Given the description of an element on the screen output the (x, y) to click on. 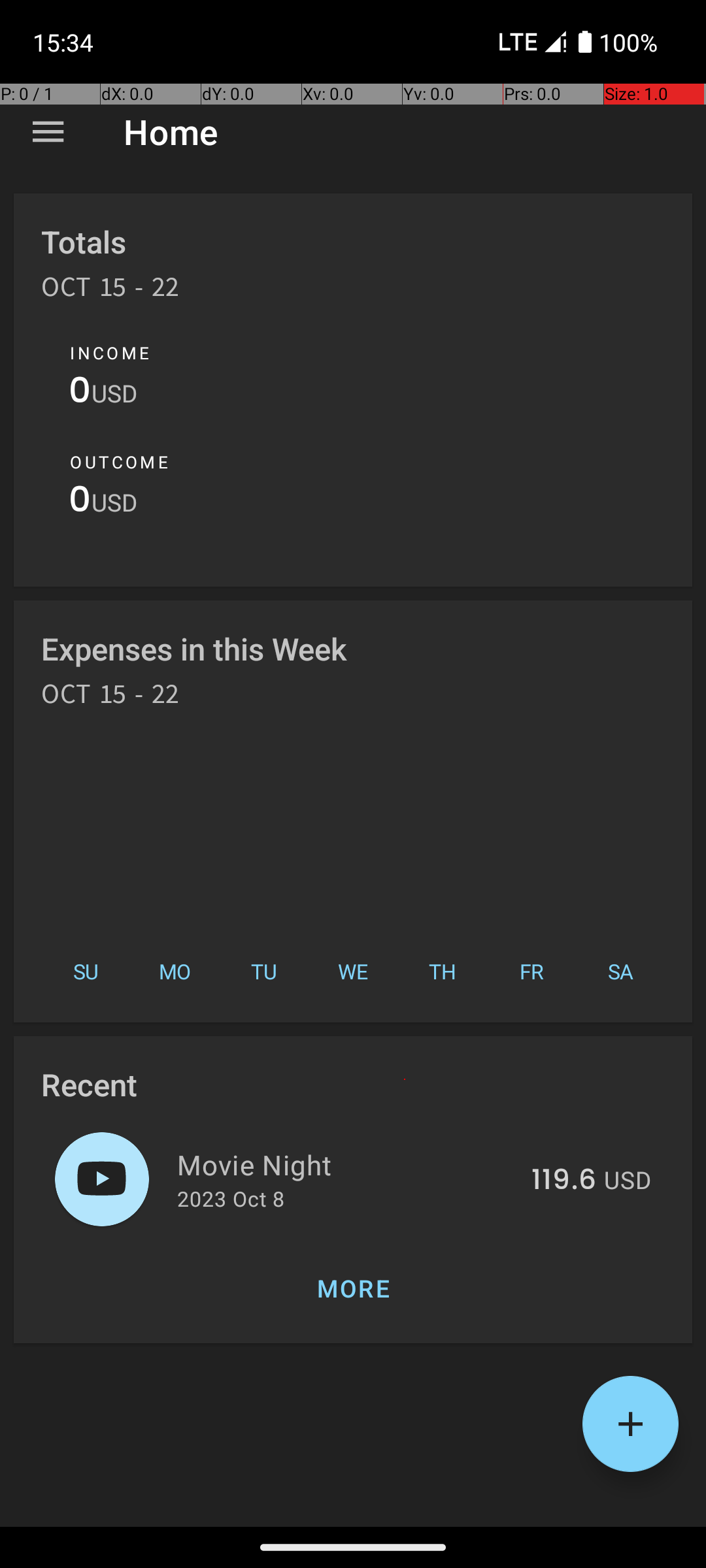
Movie Night Element type: android.widget.TextView (346, 1164)
119.6 Element type: android.widget.TextView (563, 1180)
